Given the description of an element on the screen output the (x, y) to click on. 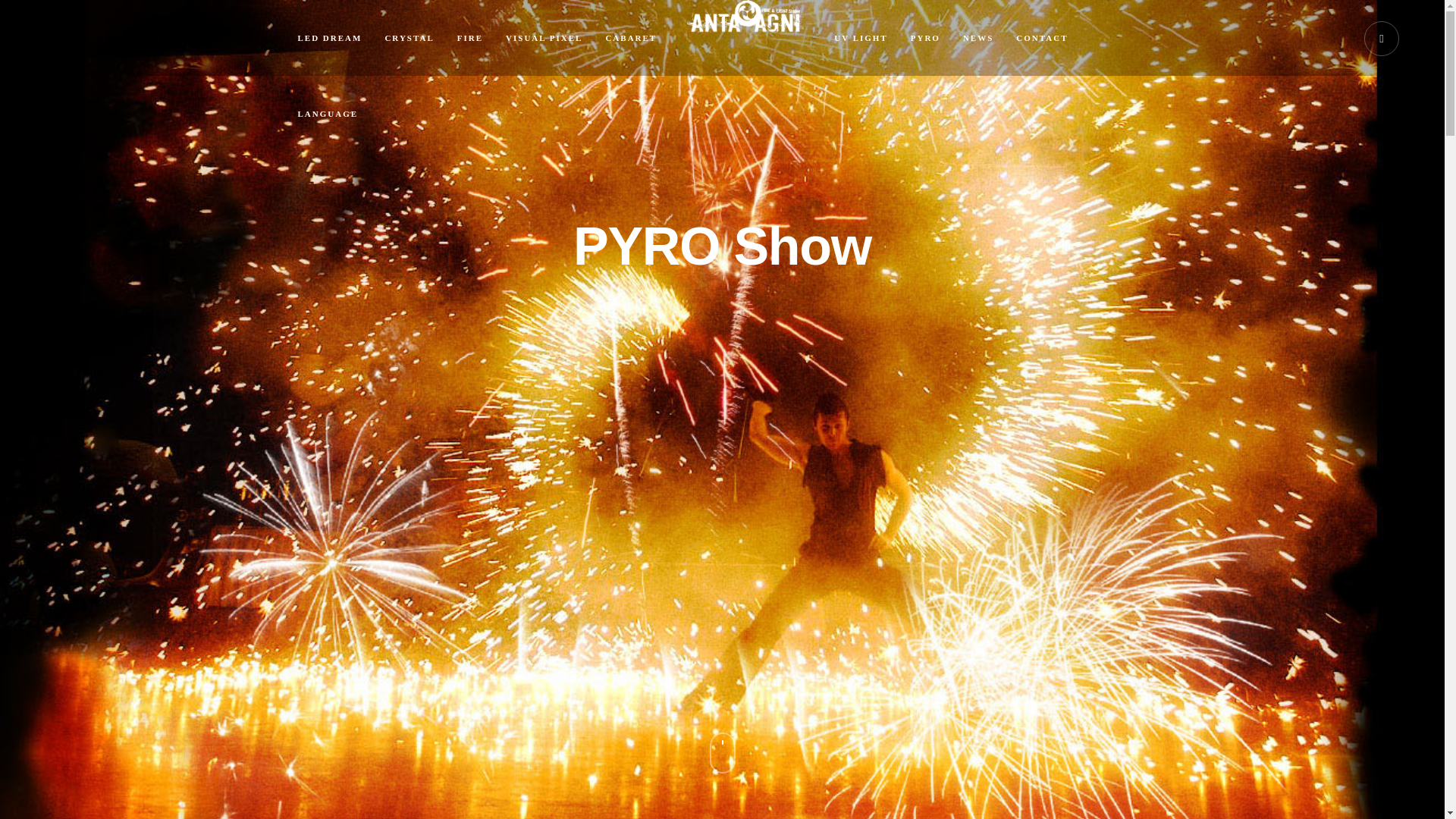
VISUAL PIXEL (543, 38)
